Given the description of an element on the screen output the (x, y) to click on. 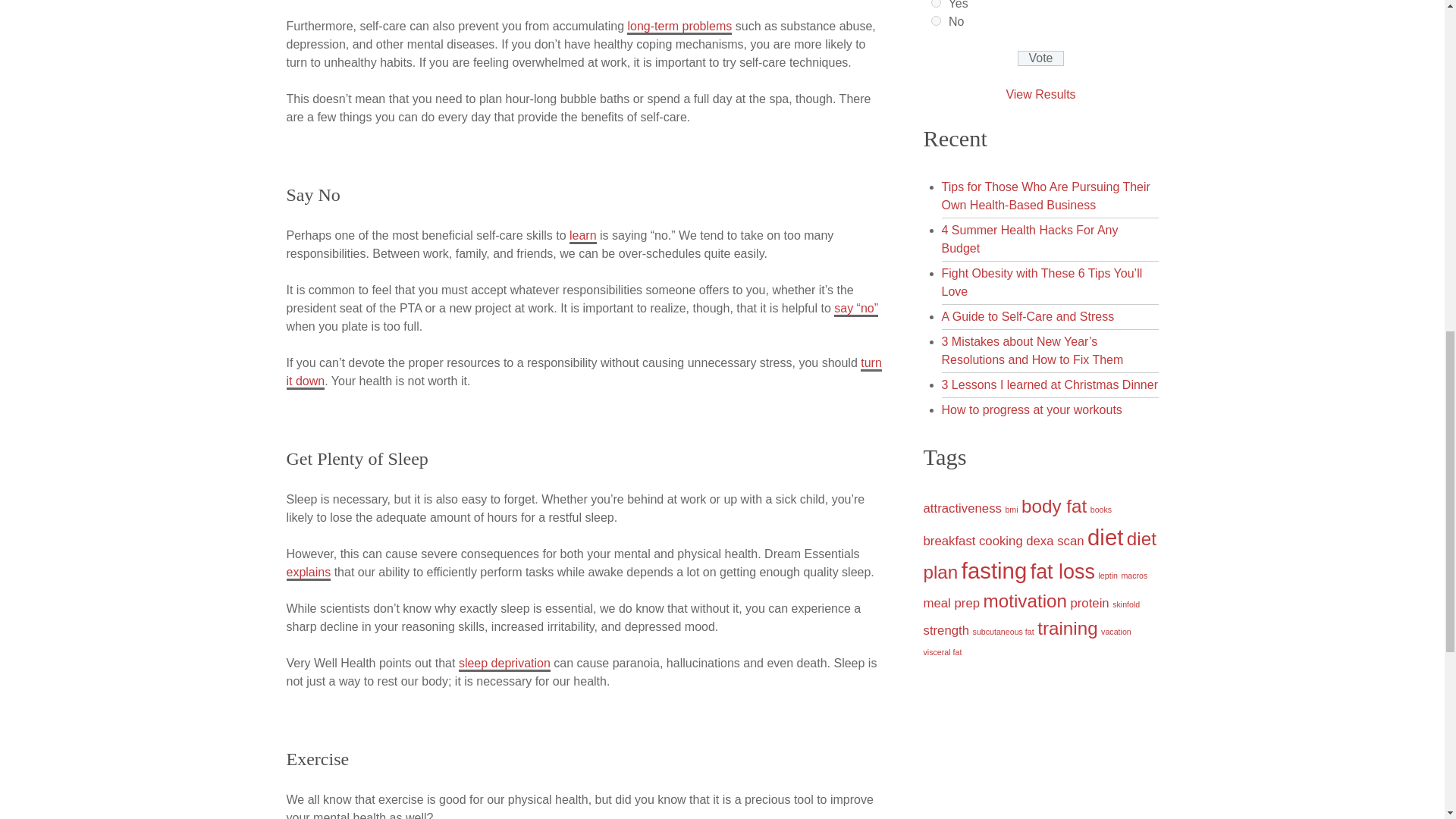
motivation (1025, 600)
breakfast (949, 540)
books (1101, 509)
protein (1089, 603)
View Results (1040, 93)
meal prep (951, 603)
attractiveness (962, 508)
   Vote    (1040, 58)
A Guide to Self-Care and Stress (1028, 316)
cooking (1000, 540)
6 (935, 3)
body fat (1054, 506)
diet (1104, 536)
leptin (1106, 574)
